Given the description of an element on the screen output the (x, y) to click on. 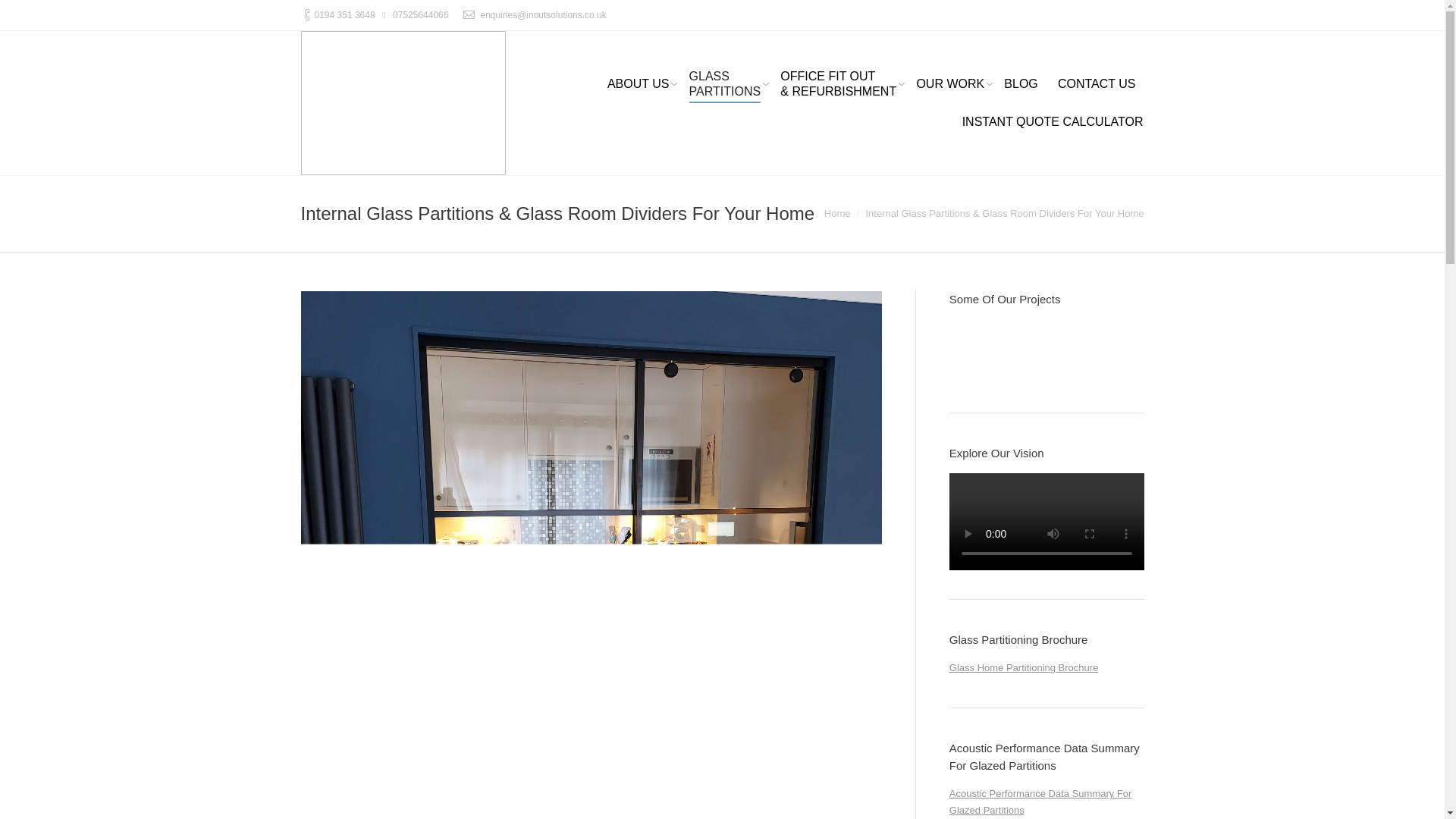
ABOUT US (638, 84)
Home (837, 213)
OUR WORK (950, 84)
BLOG (1020, 84)
INSTANT QUOTE CALCULATOR (724, 84)
CONTACT US (1052, 122)
0194 351 3648 (1097, 84)
submit (344, 14)
